Given the description of an element on the screen output the (x, y) to click on. 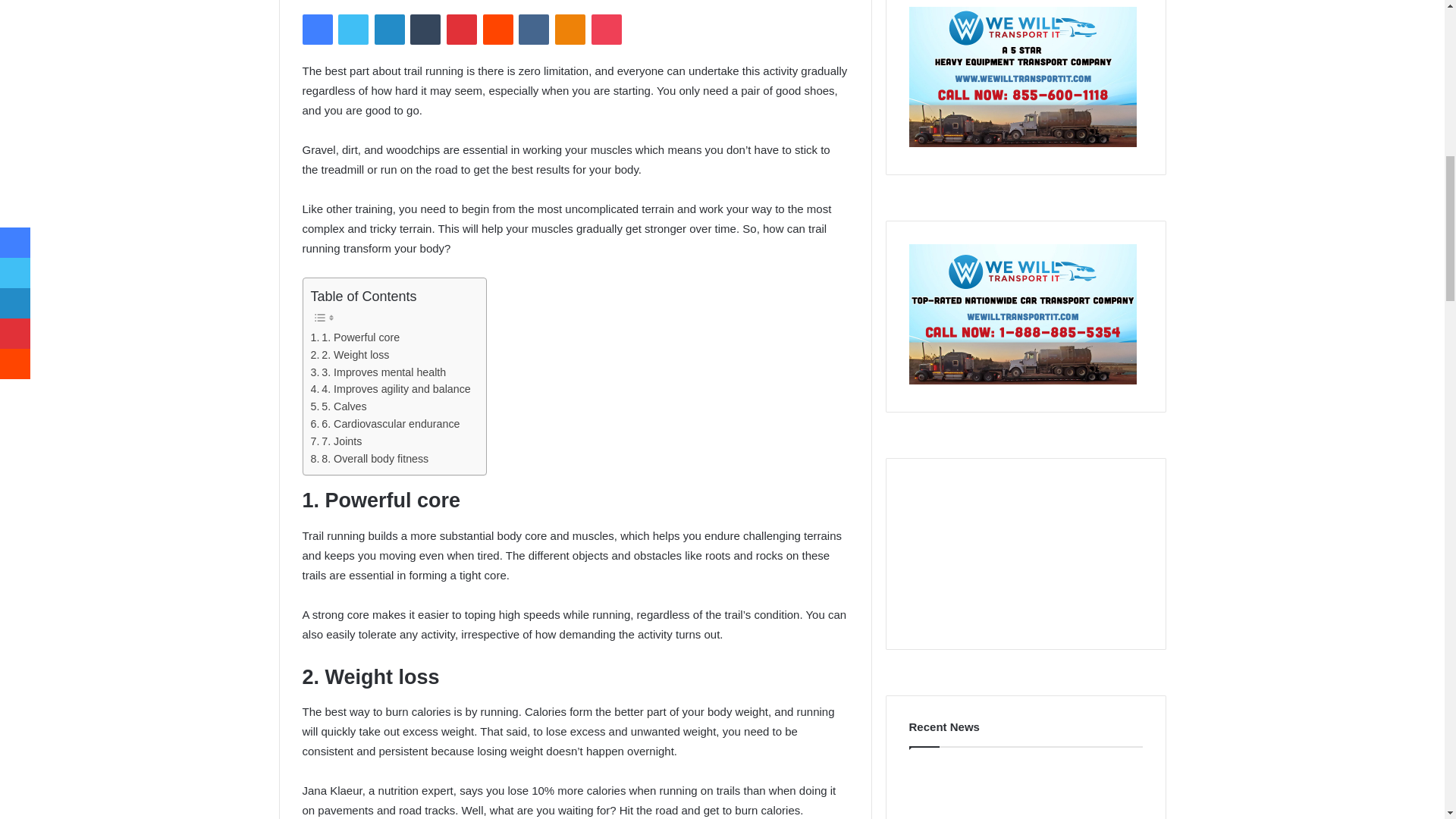
Odnoklassniki (569, 29)
Twitter (352, 29)
Pinterest (461, 29)
Twitter (352, 29)
LinkedIn (389, 29)
Tumblr (425, 29)
VKontakte (533, 29)
Reddit (498, 29)
Facebook (316, 29)
3. Improves mental health (378, 372)
Pocket (606, 29)
2. Weight loss (350, 354)
1. Powerful core (355, 337)
Facebook (316, 29)
